Given the description of an element on the screen output the (x, y) to click on. 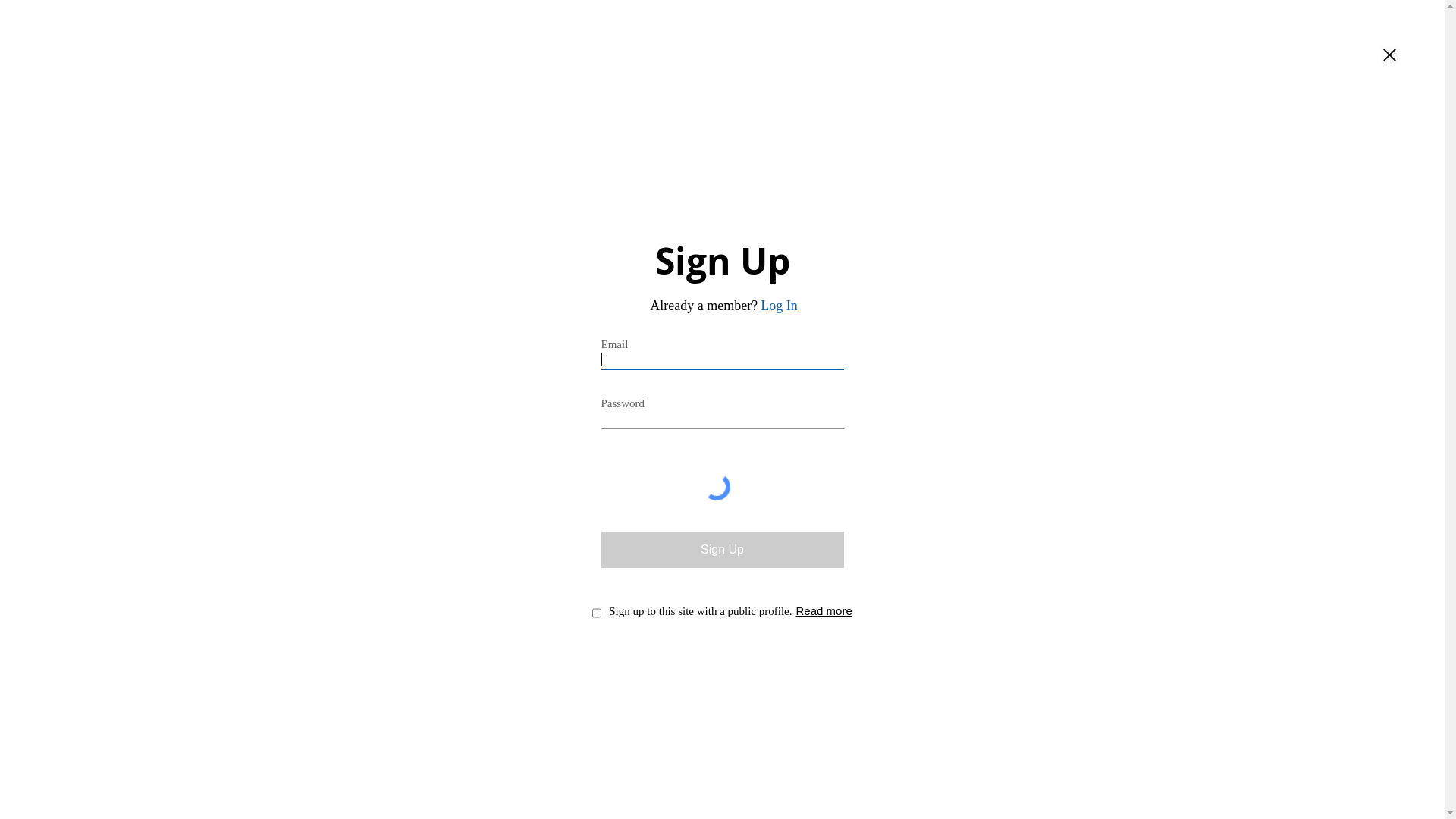
Sign Up Element type: text (721, 549)
Read more Element type: text (824, 610)
Log In Element type: text (778, 305)
